Given the description of an element on the screen output the (x, y) to click on. 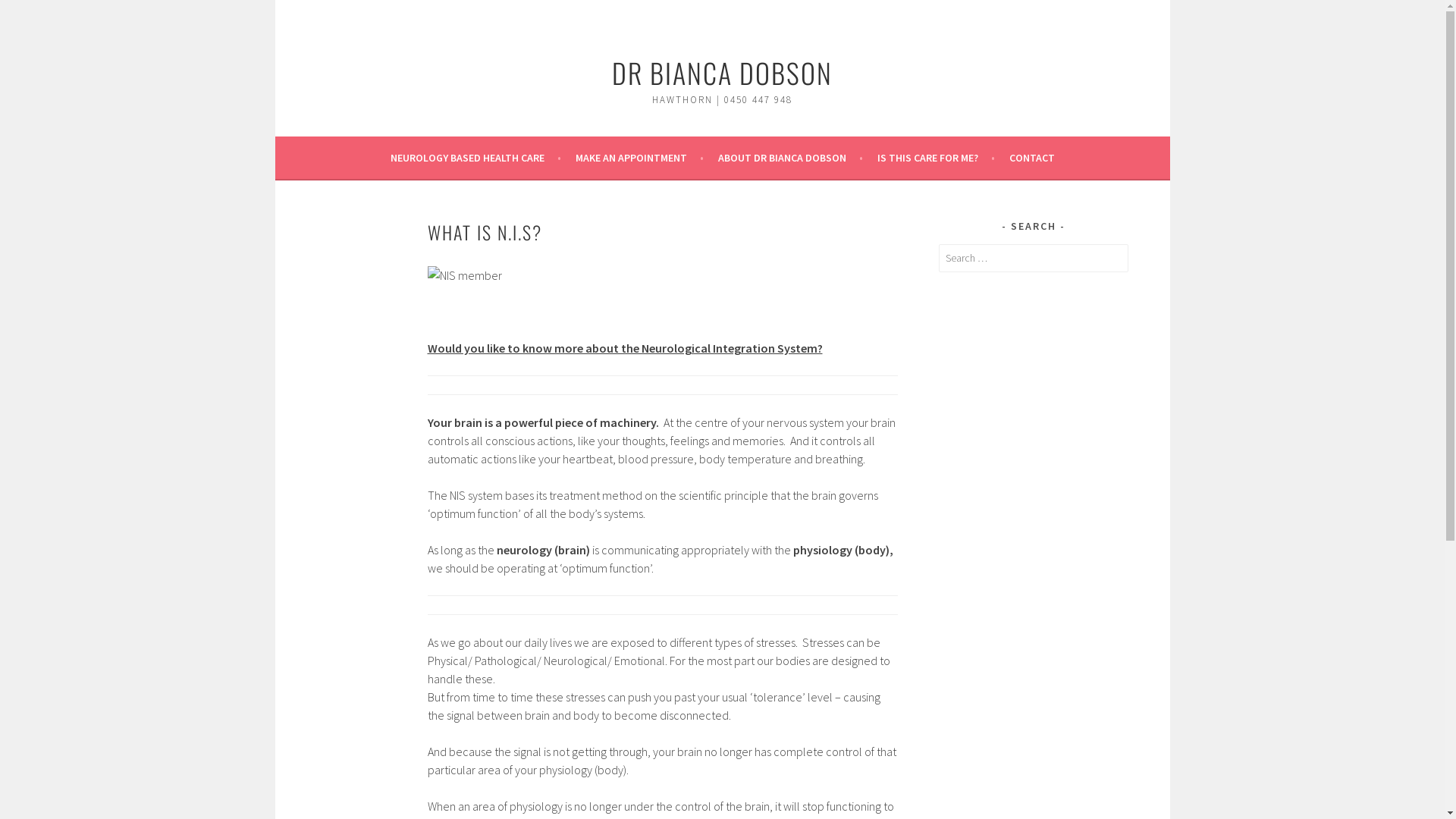
ABOUT DR BIANCA DOBSON Element type: text (789, 157)
MAKE AN APPOINTMENT Element type: text (638, 157)
Search Element type: text (27, 13)
IS THIS CARE FOR ME? Element type: text (935, 157)
DR BIANCA DOBSON Element type: text (721, 72)
NEUROLOGY BASED HEALTH CARE Element type: text (474, 157)
CONTACT Element type: text (1031, 157)
